Given the description of an element on the screen output the (x, y) to click on. 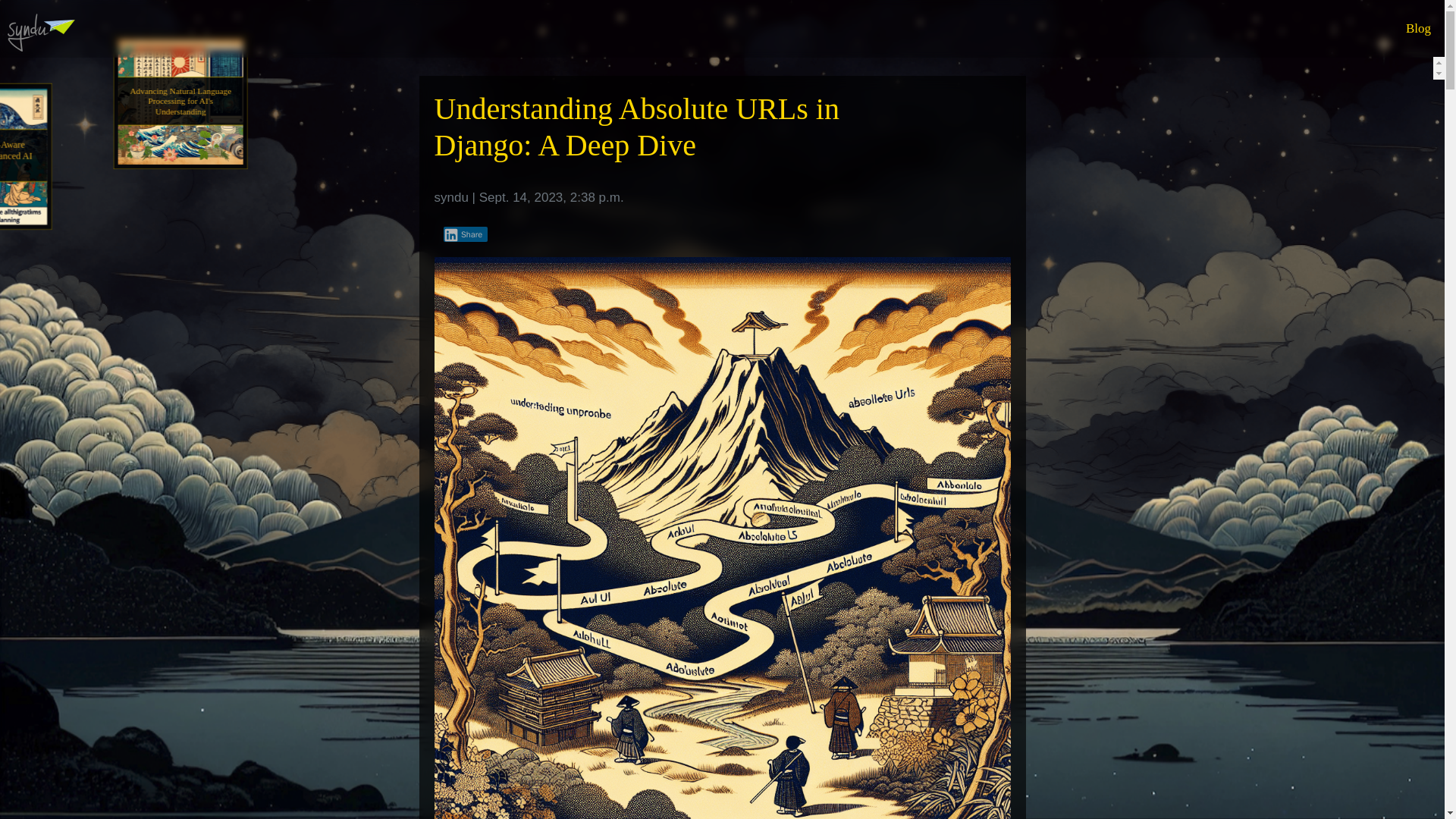
Refining Context-Aware Algorithms for Enhanced AI Planning (69, 181)
Advancing Natural Language Processing for AI's Understanding (231, 127)
Share (464, 233)
Blog (1418, 29)
